Given the description of an element on the screen output the (x, y) to click on. 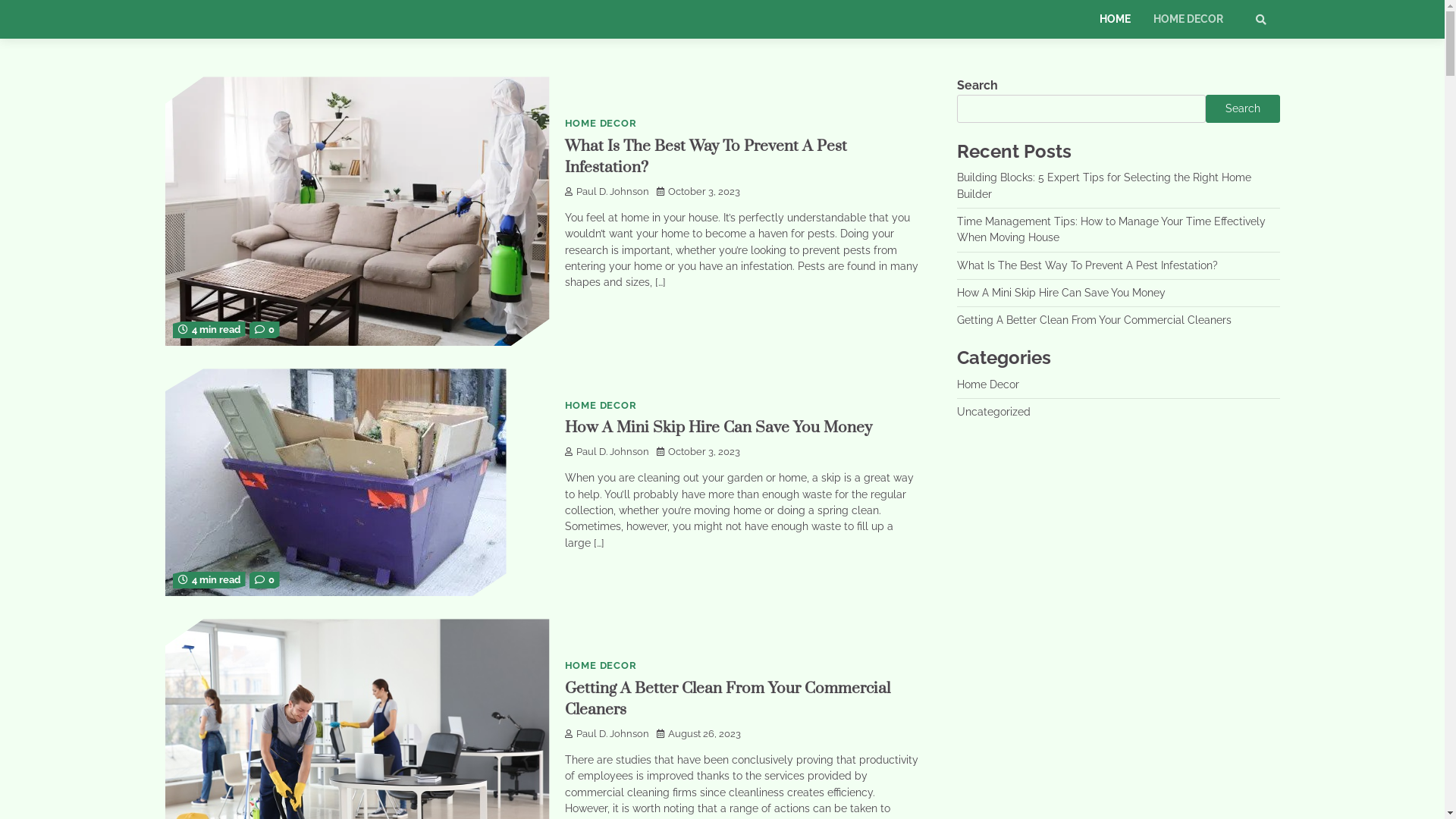
Uncategorized Element type: text (993, 411)
What Is The Best Way To Prevent A Pest Infestation? Element type: text (1087, 265)
Paul D. Johnson Element type: text (606, 733)
HOME DECOR Element type: text (600, 665)
Getting A Better Clean From Your Commercial Cleaners Element type: text (1094, 319)
Search Element type: text (1232, 58)
Search Element type: text (1242, 108)
HOME DECOR Element type: text (1188, 19)
What Is The Best Way To Prevent A Pest Infestation? Element type: text (705, 157)
Paul D. Johnson Element type: text (606, 191)
Getting A Better Clean From Your Commercial Cleaners Element type: text (726, 699)
HOME DECOR Element type: text (600, 122)
HOME DECOR Element type: text (600, 405)
How A Mini Skip Hire Can Save You Money Element type: text (717, 427)
Home Decor Element type: text (988, 384)
Paul D. Johnson Element type: text (606, 451)
HOME Element type: text (1114, 19)
Search Element type: hover (1260, 19)
How A Mini Skip Hire Can Save You Money Element type: text (1061, 292)
